Given the description of an element on the screen output the (x, y) to click on. 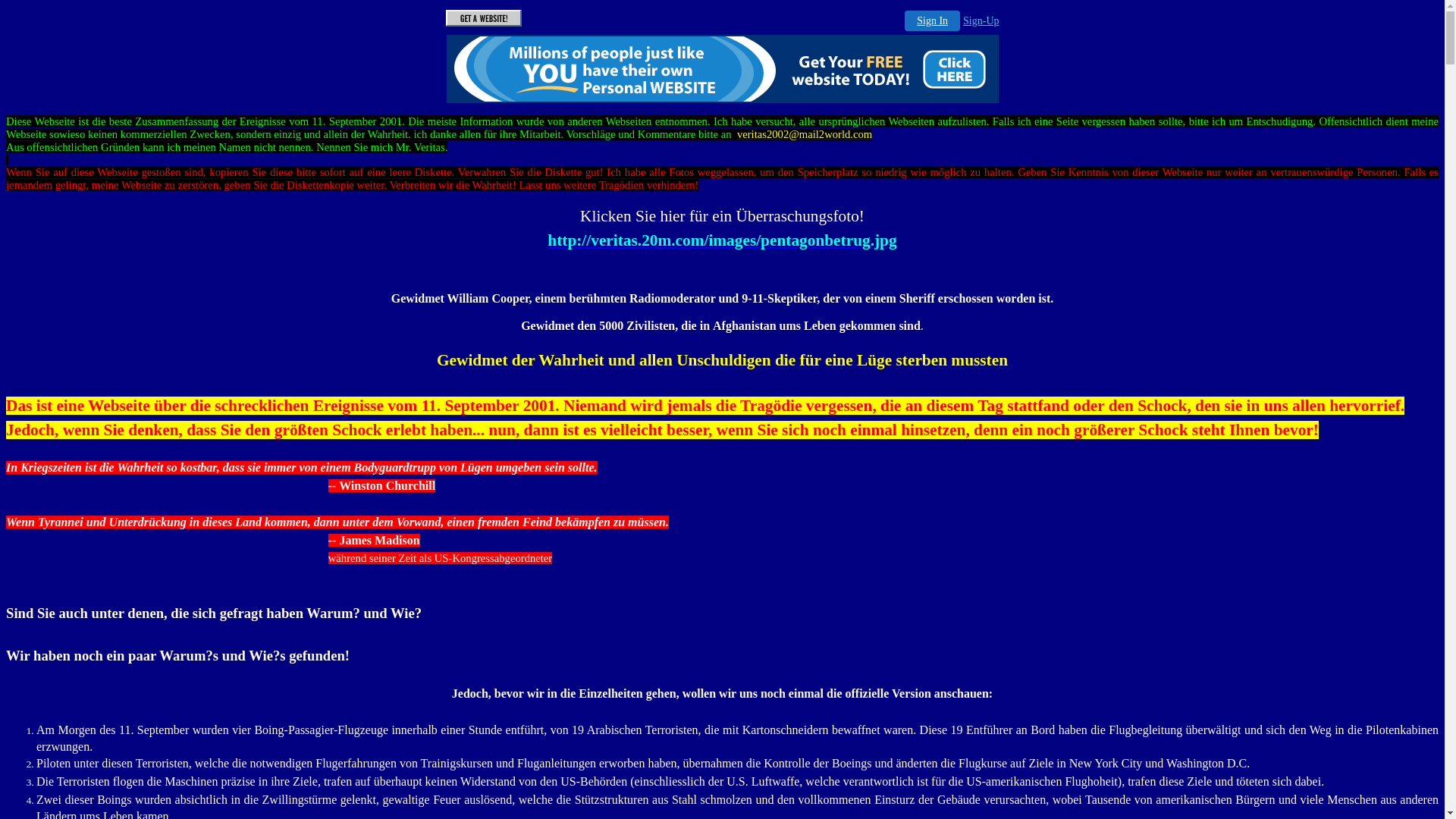
http://veritas.20m.com/images/pentagonbetrug.jpg Element type: text (721, 240)
Sign In Element type: text (932, 20)
veritas2002@mail2world.com Element type: text (804, 134)
Sign-Up Element type: text (980, 20)
